Given the description of an element on the screen output the (x, y) to click on. 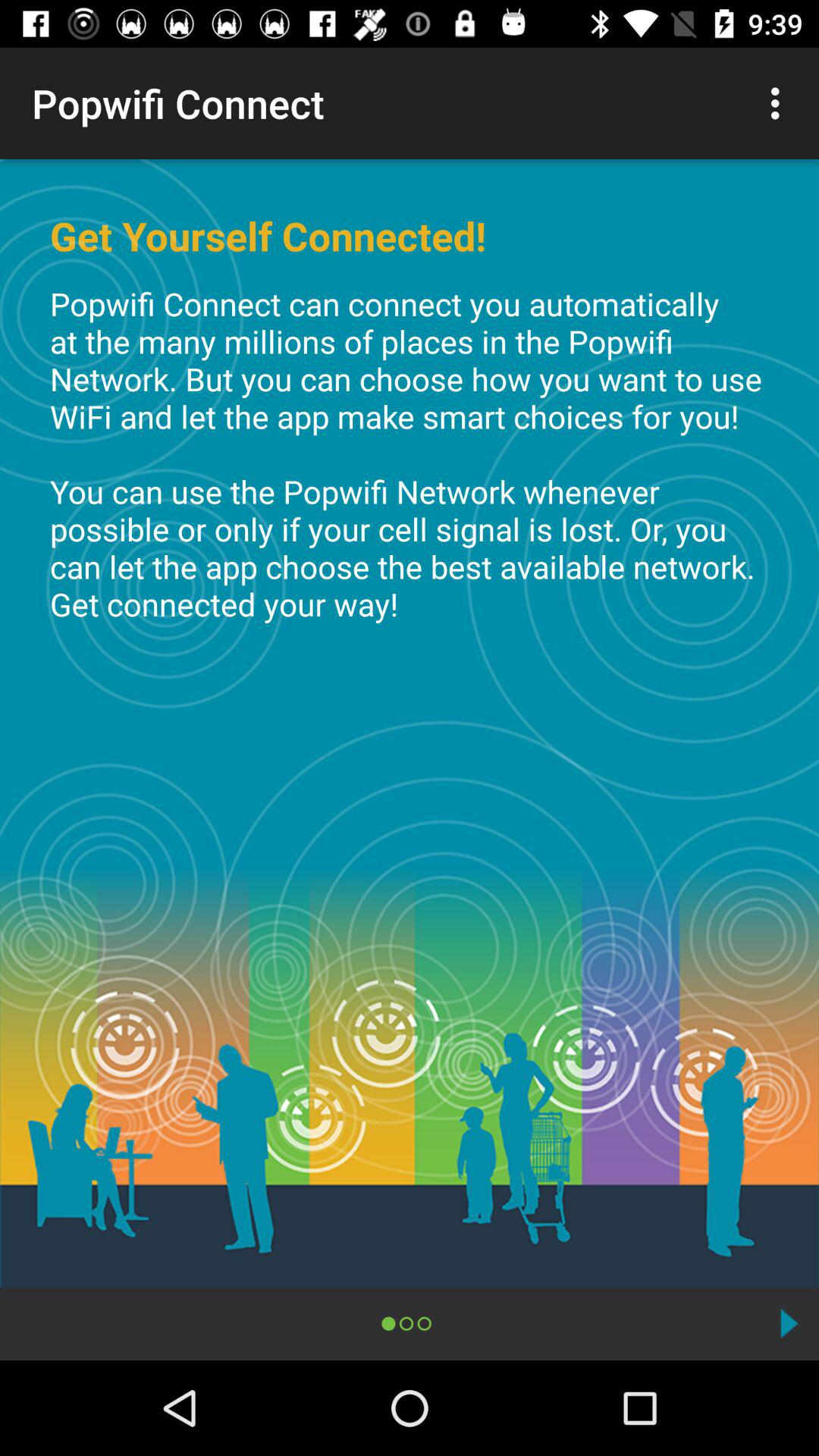
launch icon next to the popwifi connect icon (779, 103)
